Given the description of an element on the screen output the (x, y) to click on. 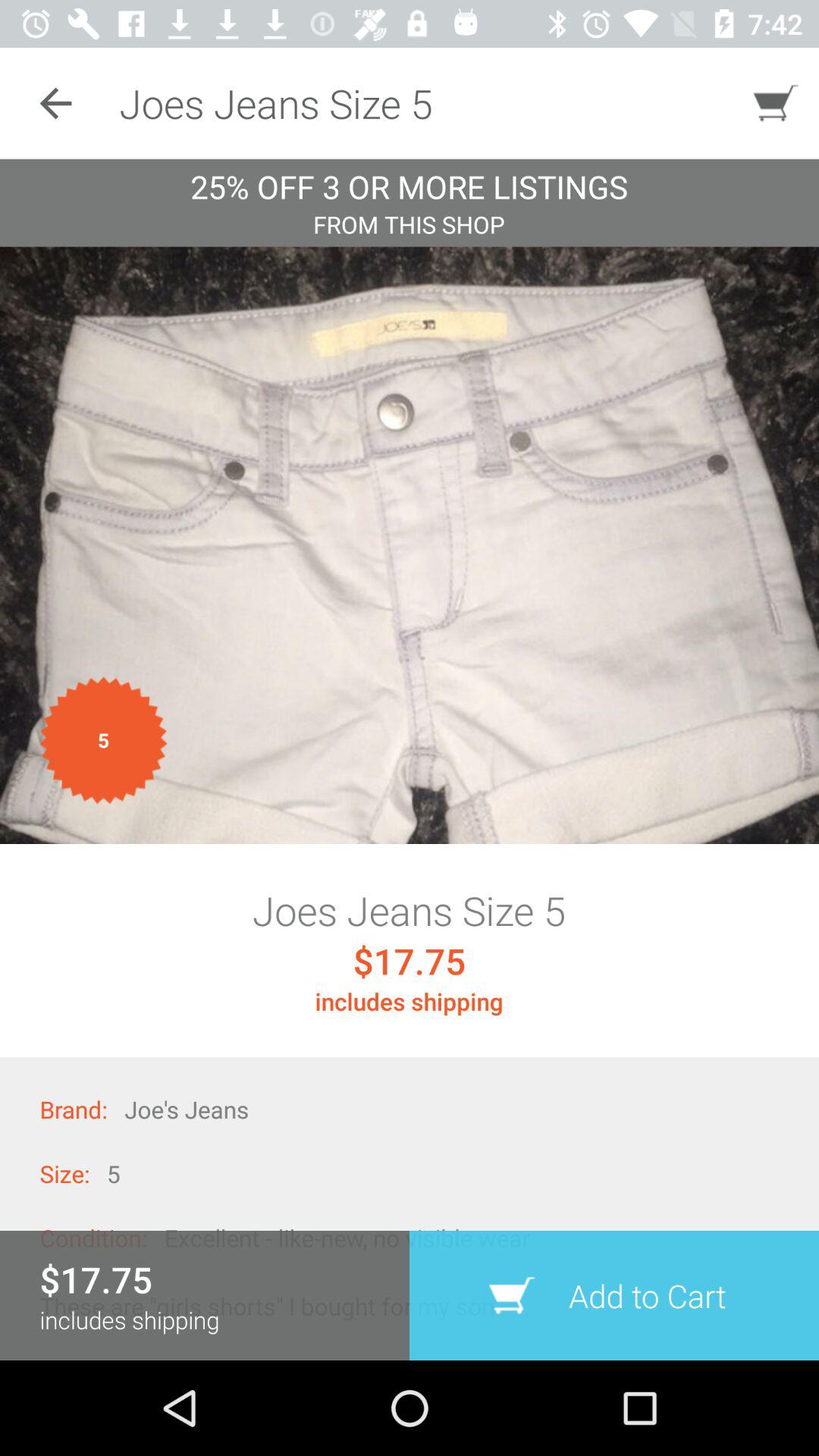
item picture (409, 545)
